Given the description of an element on the screen output the (x, y) to click on. 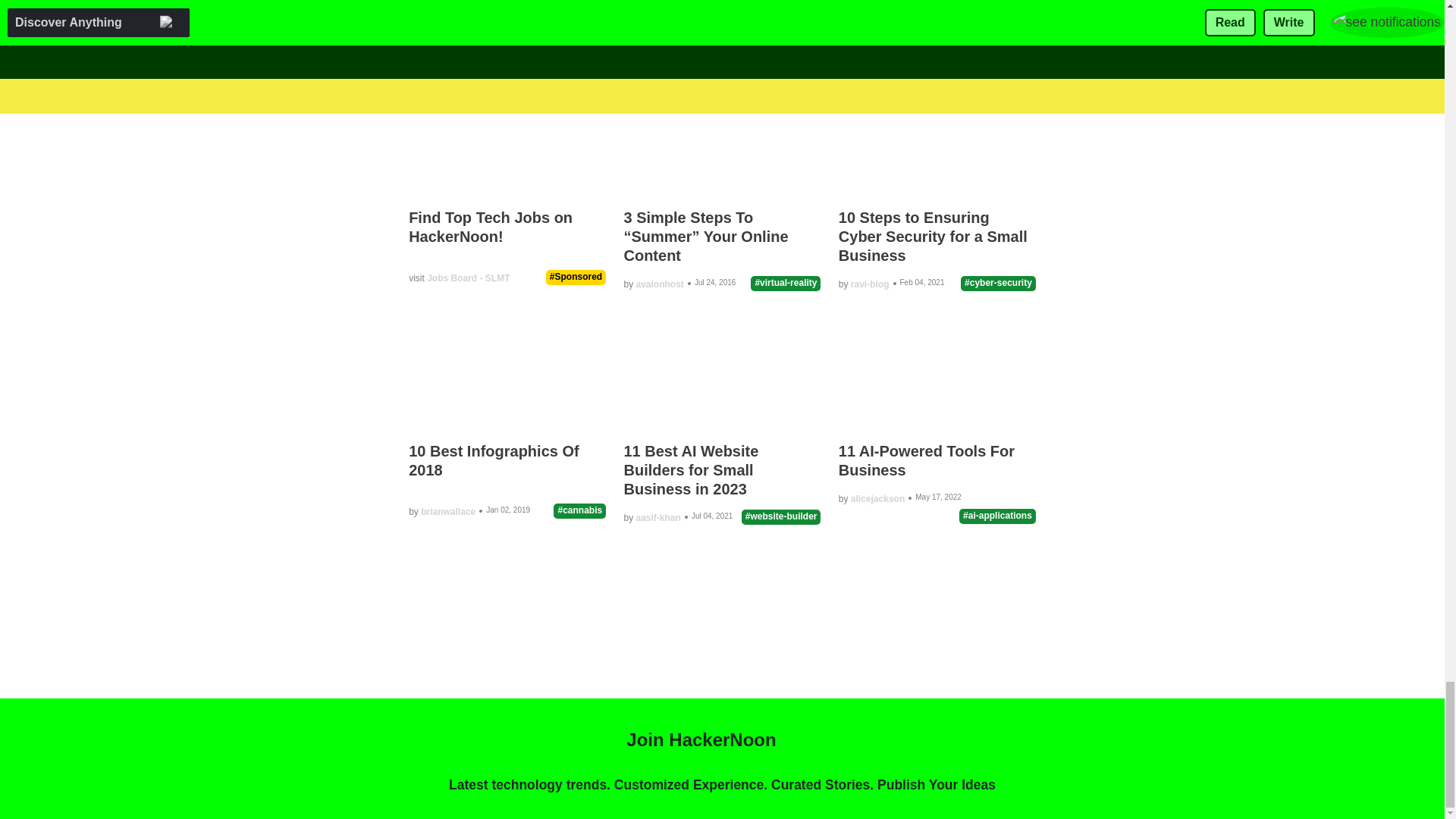
Find Top Tech Jobs on HackerNoon! (490, 226)
